Given the description of an element on the screen output the (x, y) to click on. 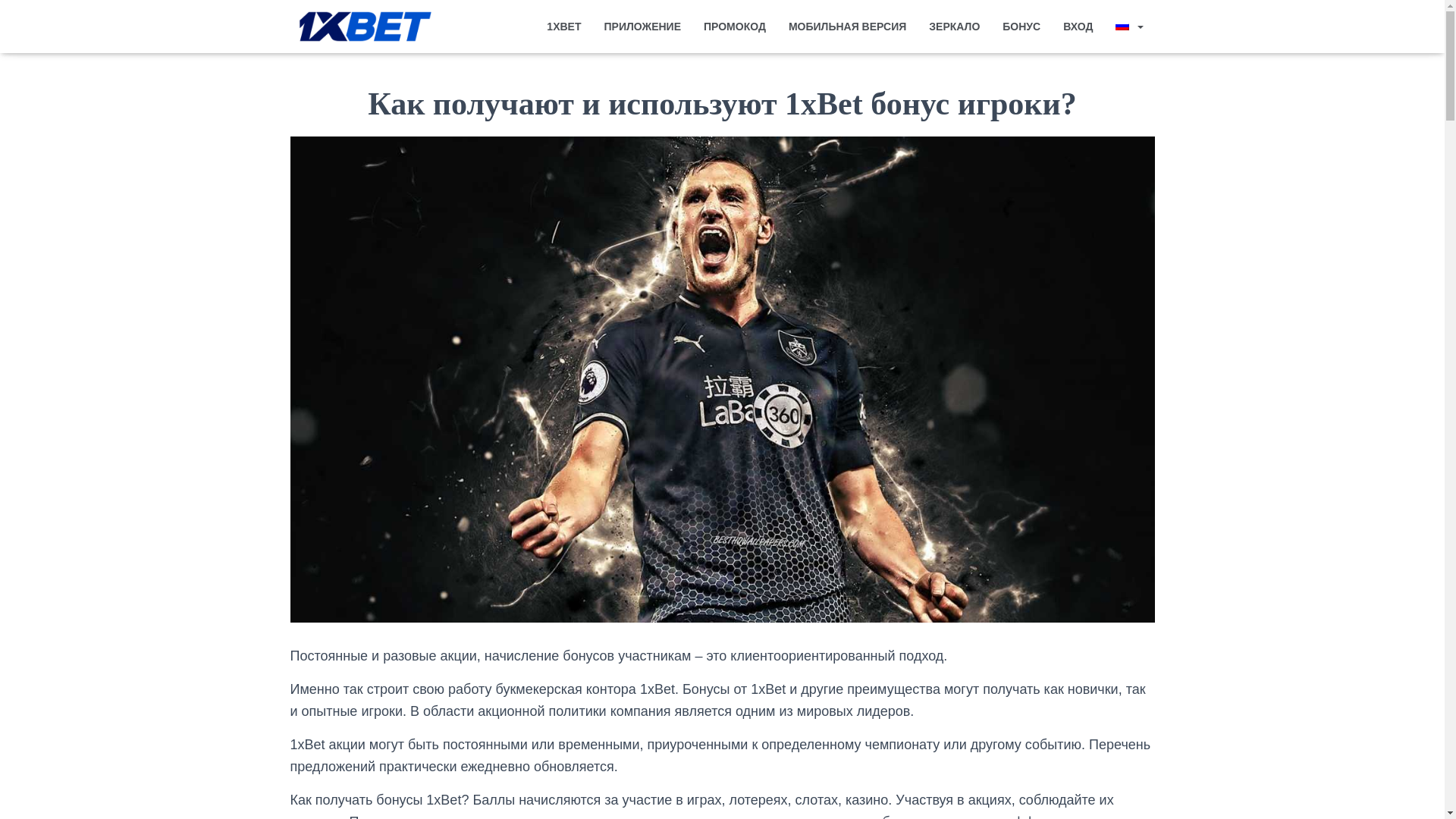
1XBET Element type: text (563, 26)
